Given the description of an element on the screen output the (x, y) to click on. 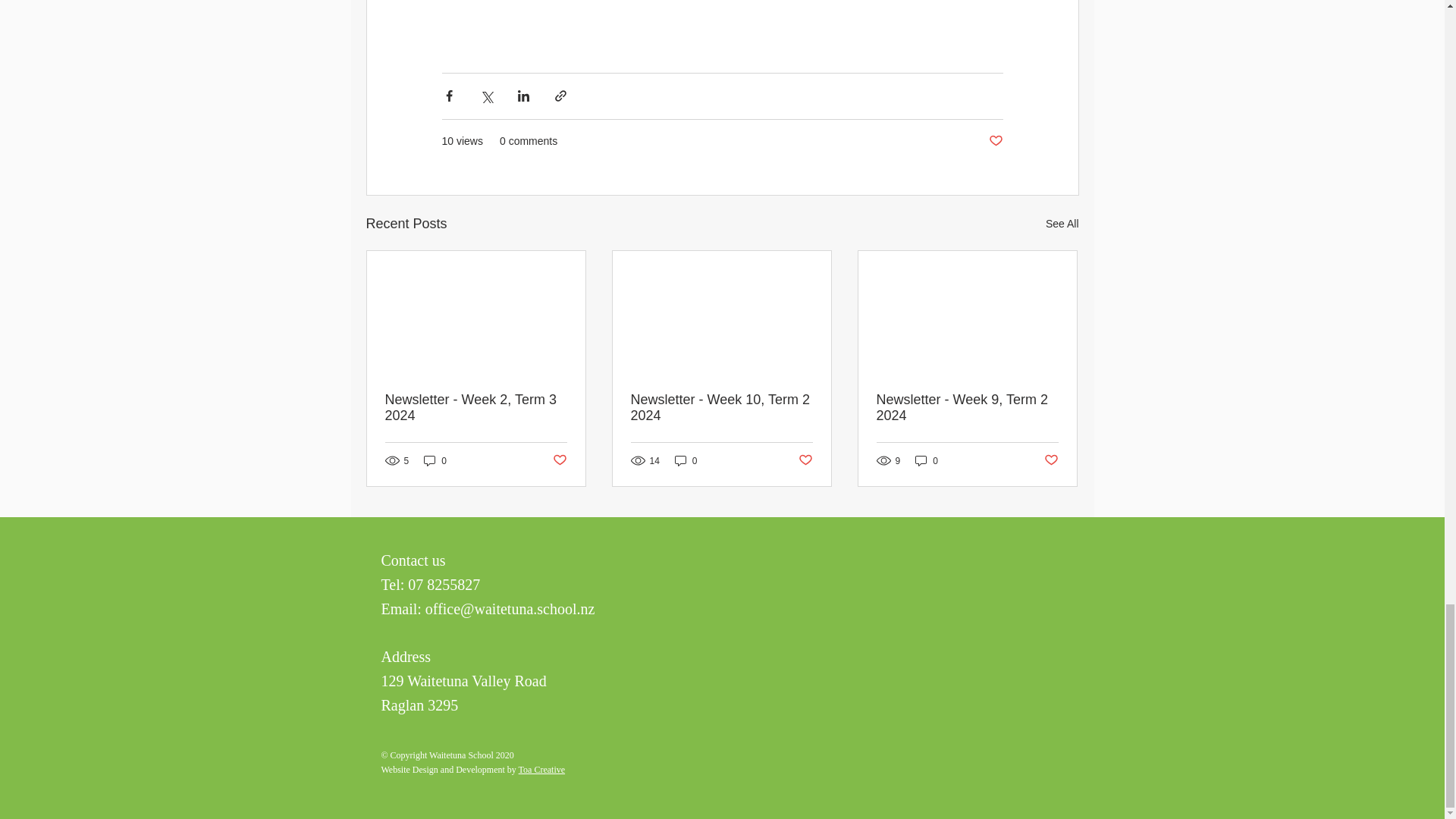
Post not marked as liked (804, 460)
0 (926, 460)
See All (1061, 223)
0 (685, 460)
Post not marked as liked (558, 460)
Newsletter - Week 10, Term 2 2024 (721, 408)
Newsletter - Week 2, Term 3 2024 (476, 408)
0 (435, 460)
Post not marked as liked (1050, 460)
Toa Creative (541, 769)
